Given the description of an element on the screen output the (x, y) to click on. 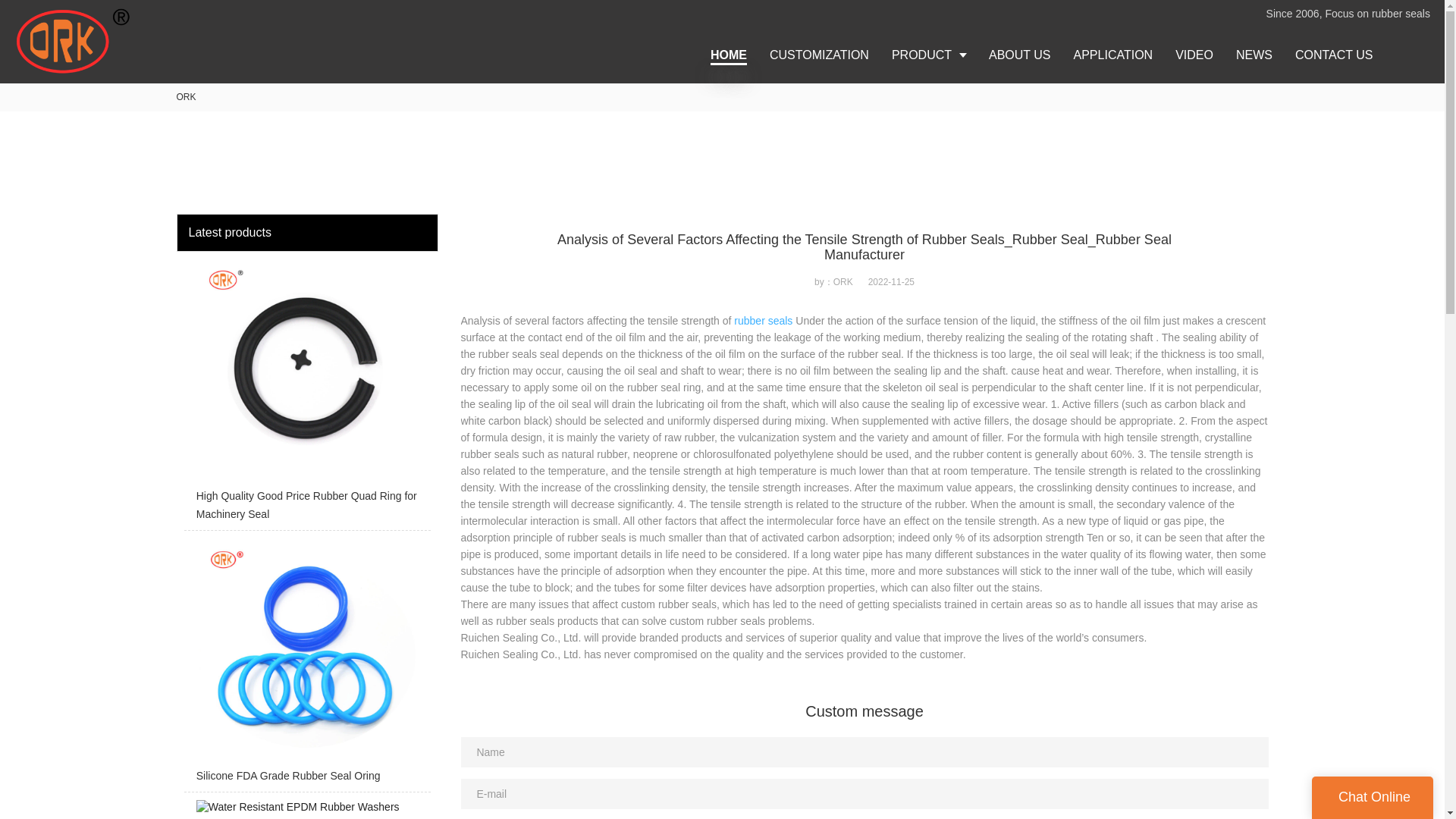
HOME (728, 55)
VIDEO (1193, 55)
APPLICATION (1113, 55)
ABOUT US (1019, 55)
rubber seals (762, 320)
Customized FKM Rubber Auto Parts (306, 686)
Water Resistant EPDM Rubber Washers (306, 632)
NEWS (1254, 55)
PRODUCT (928, 55)
High Quality Good Price Rubber Quad Ring for Machinery Seal (306, 299)
